Given the description of an element on the screen output the (x, y) to click on. 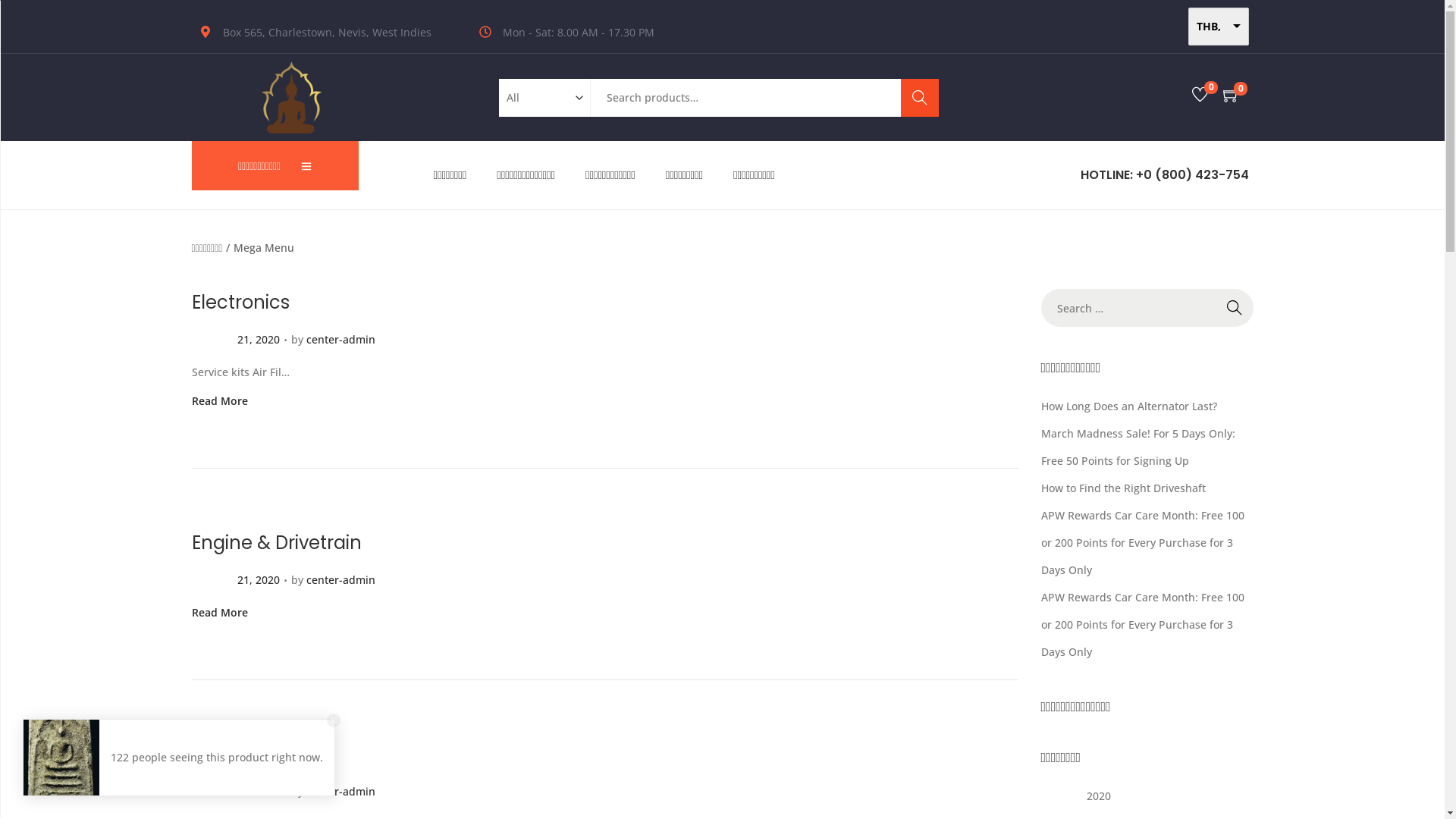
Engine & Drivetrain Element type: text (275, 542)
Read More Element type: text (219, 612)
Interior Parts Element type: text (247, 753)
center-admin Element type: text (340, 339)
center-admin Element type: text (340, 791)
How Long Does an Alternator Last? Element type: text (1128, 405)
Read More Element type: text (219, 400)
Search Element type: text (950, 428)
Search Element type: text (1233, 307)
0 Element type: text (1231, 95)
center-admin Element type: text (340, 579)
Search Element type: text (919, 97)
0 Element type: text (1200, 95)
Electronics Element type: text (239, 301)
How to Find the Right Driveshaft Element type: text (1122, 487)
